Given the description of an element on the screen output the (x, y) to click on. 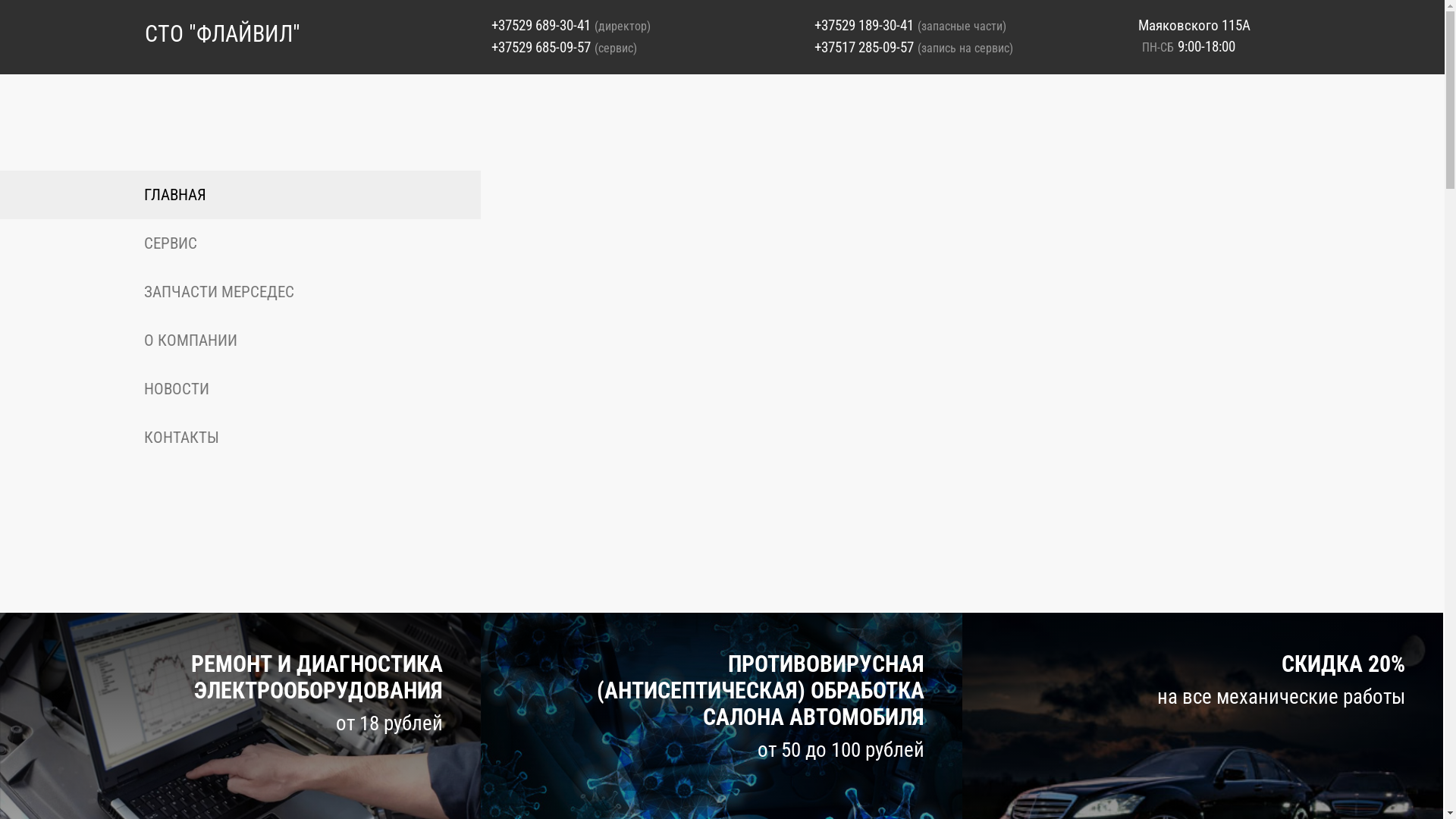
+37529 689-30-41 Element type: text (540, 25)
+37517 285-09-57 Element type: text (863, 47)
+37529 189-30-41 Element type: text (863, 25)
+37529 685-09-57 Element type: text (540, 47)
